Given the description of an element on the screen output the (x, y) to click on. 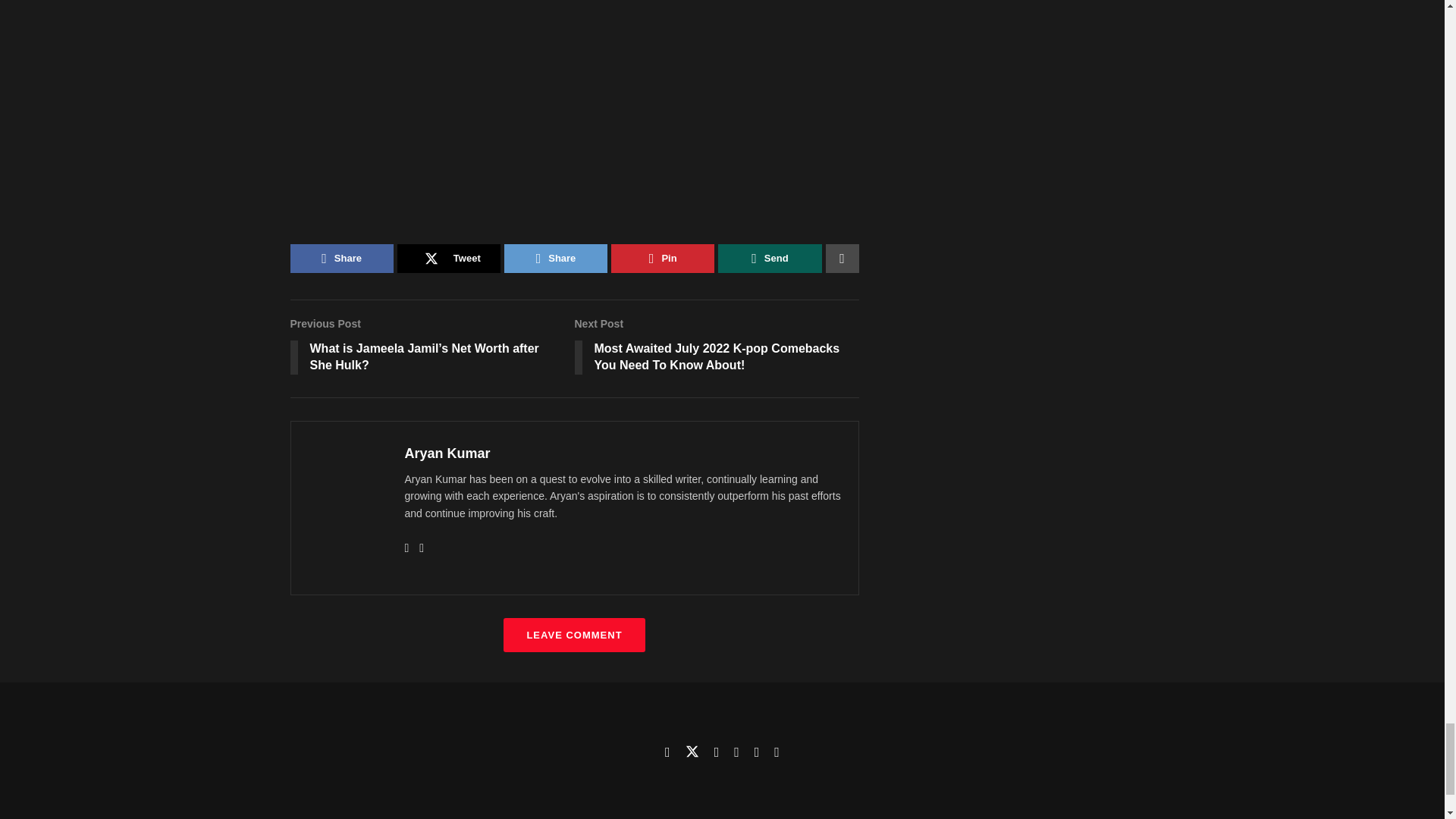
Pin (662, 258)
Tweet (448, 258)
Share (555, 258)
Aryan Kumar (447, 453)
Share (341, 258)
Send (769, 258)
